Given the description of an element on the screen output the (x, y) to click on. 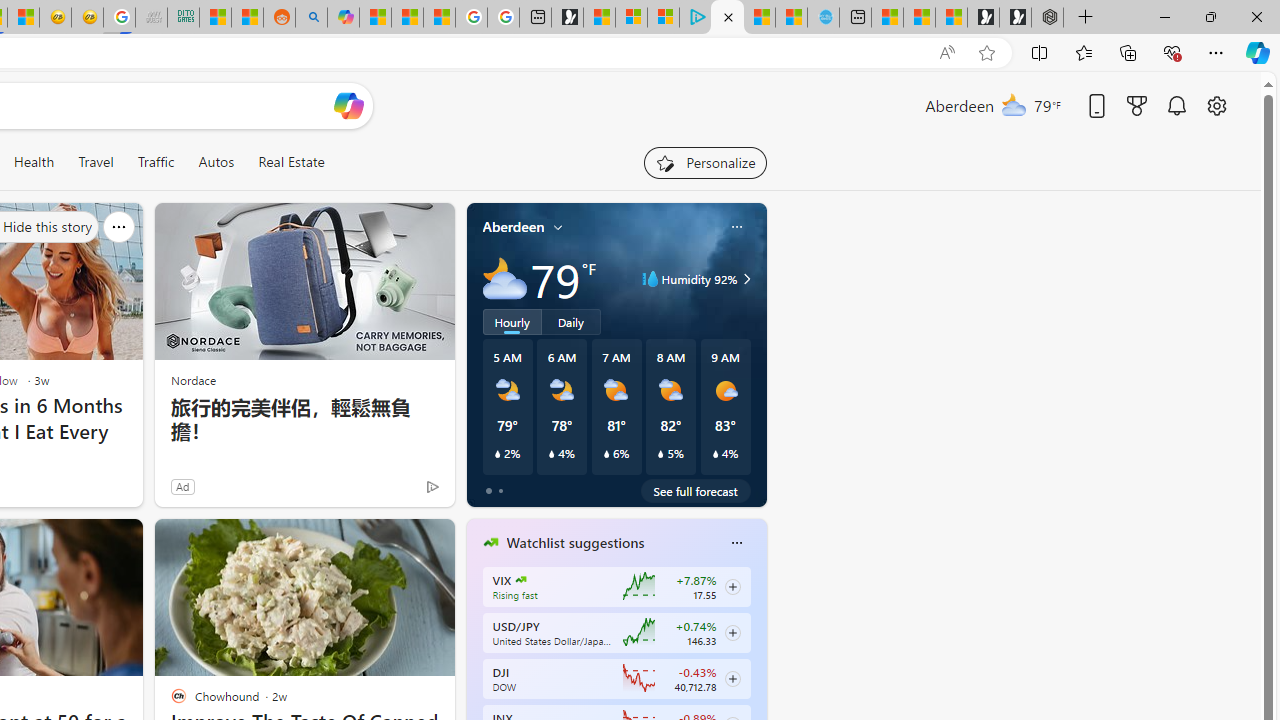
Class: weather-arrow-glyph (746, 278)
Hide this story (393, 542)
Microsoft Start (758, 17)
Ad (182, 486)
Class: icon-img (736, 542)
tab-0 (488, 490)
Autos (215, 161)
Hourly (511, 321)
previous (476, 670)
Microsoft Copilot in Bing (343, 17)
